Given the description of an element on the screen output the (x, y) to click on. 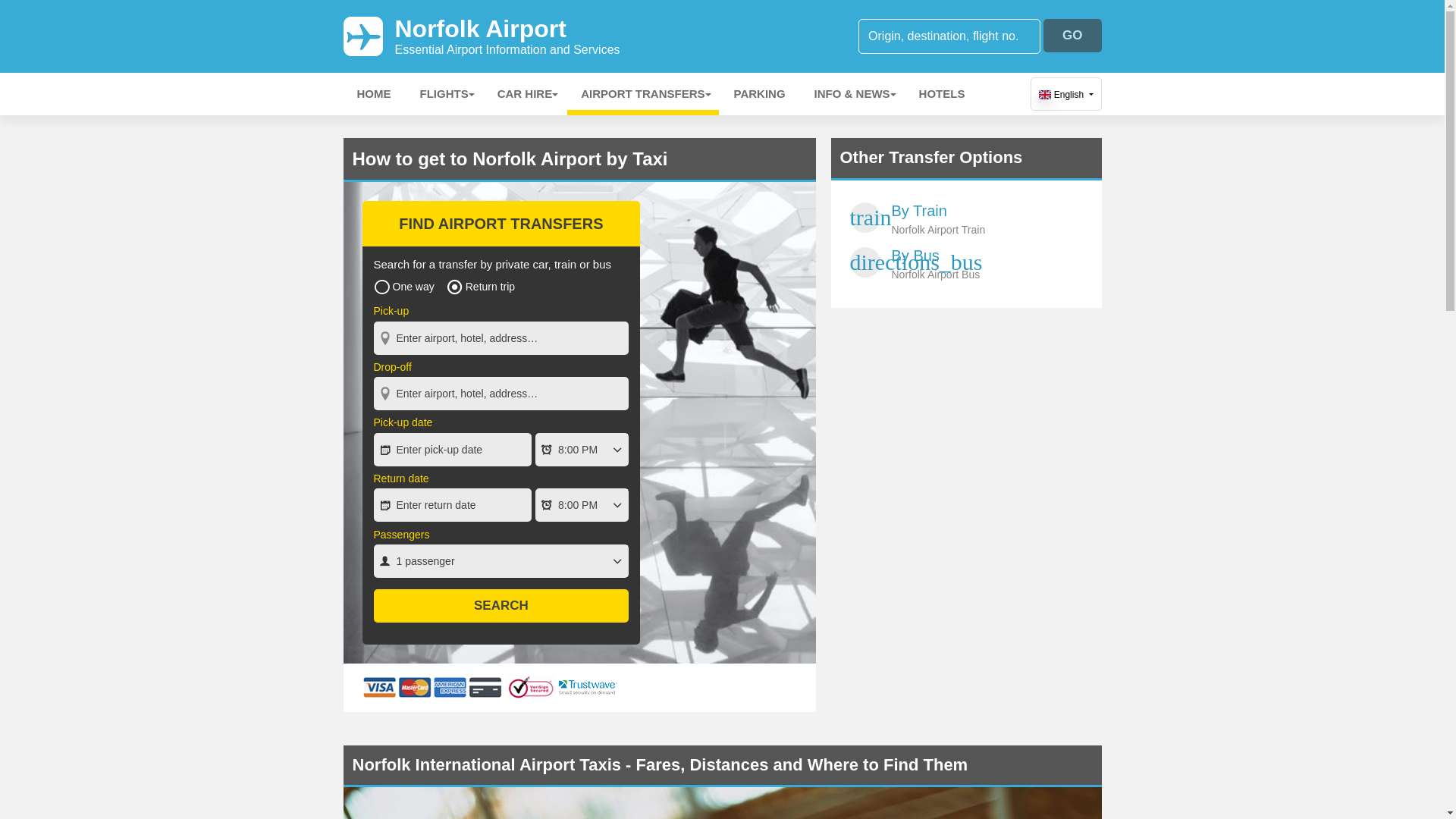
1 passenger (500, 561)
FLIGHTS (443, 93)
HOTELS (941, 93)
AIRPORT TRANSFERS (987, 264)
English (507, 36)
GO (642, 93)
HOME (1066, 93)
SEARCH (1071, 35)
8:00 PM (373, 93)
8:00 PM (500, 605)
PARKING (581, 504)
GetYourGuide Widget (581, 449)
